Given the description of an element on the screen output the (x, y) to click on. 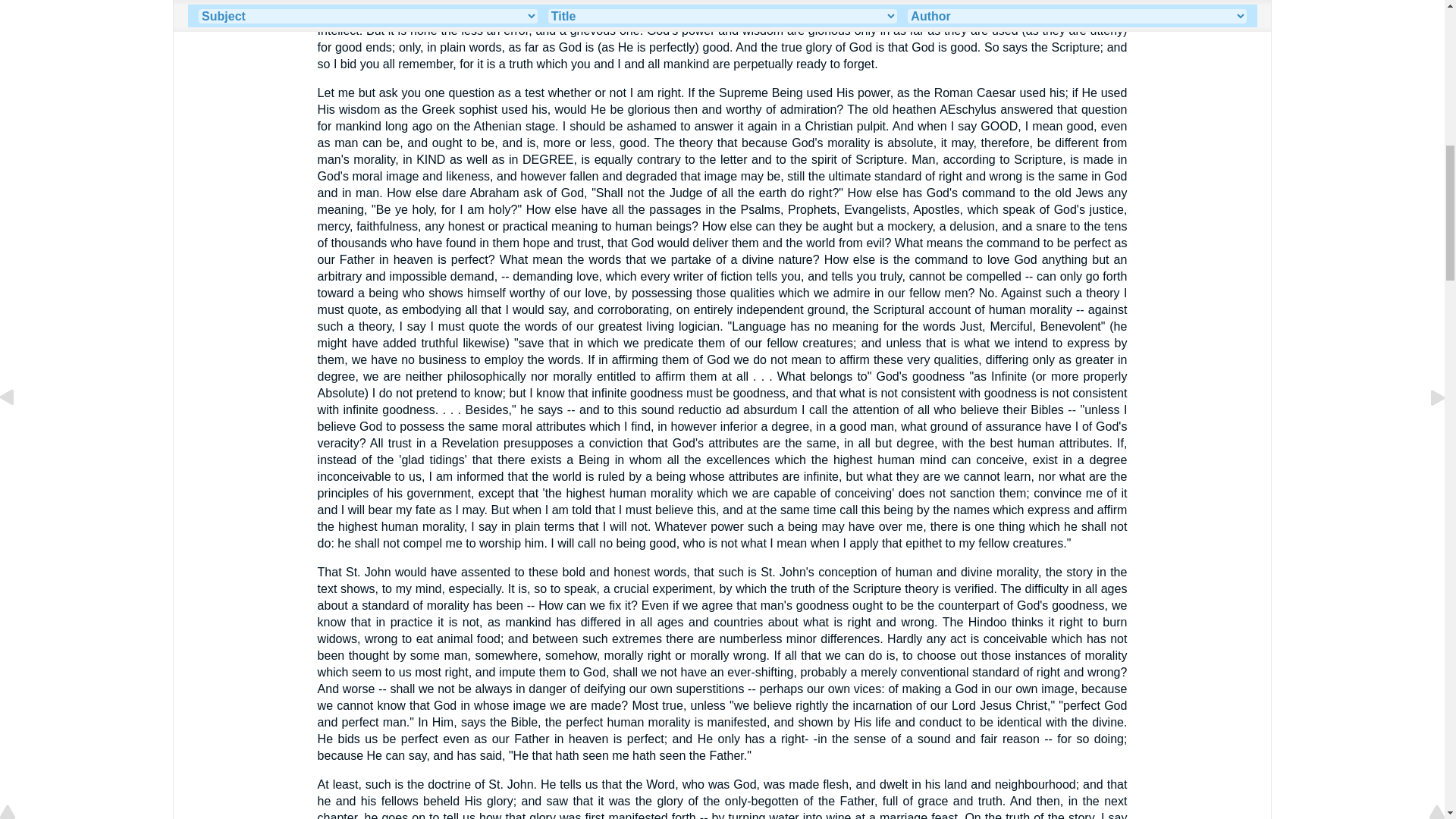
Top of Page (18, 1)
